Given the description of an element on the screen output the (x, y) to click on. 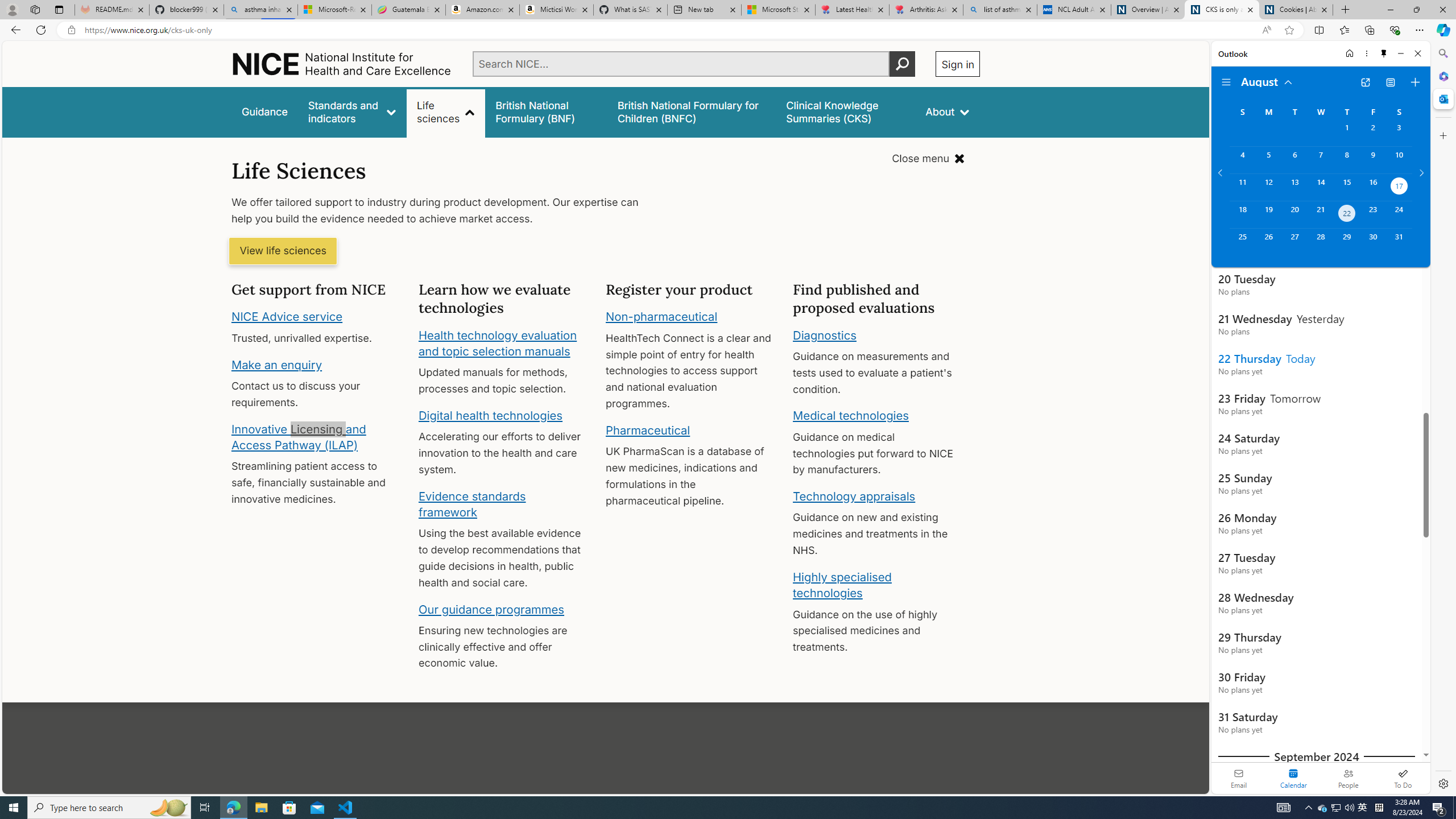
Thursday, August 22, 2024. Today.  (1346, 214)
Friday, August 16, 2024.  (1372, 186)
asthma inhaler - Search (260, 9)
Non-pharmaceutical (661, 316)
Tuesday, August 13, 2024.  (1294, 186)
Monday, August 5, 2024.  (1268, 159)
View Switcher. Current view is Agenda view (1390, 82)
Email (1238, 777)
